Given the description of an element on the screen output the (x, y) to click on. 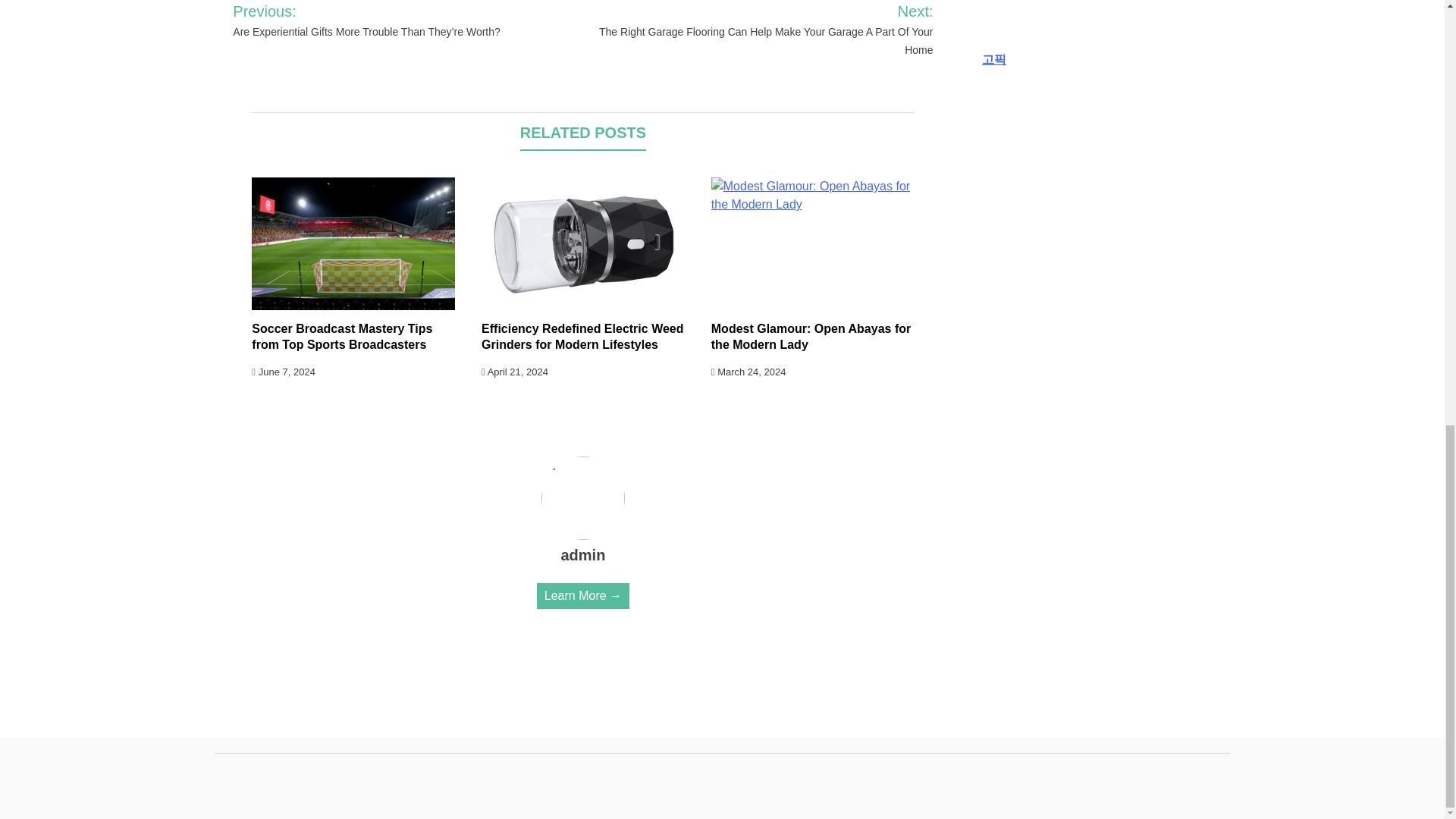
April 21, 2024 (514, 371)
Soccer Broadcast Mastery Tips from Top Sports Broadcasters (341, 336)
March 24, 2024 (748, 371)
June 7, 2024 (283, 371)
Modest Glamour: Open Abayas for the Modern Lady (811, 336)
